Given the description of an element on the screen output the (x, y) to click on. 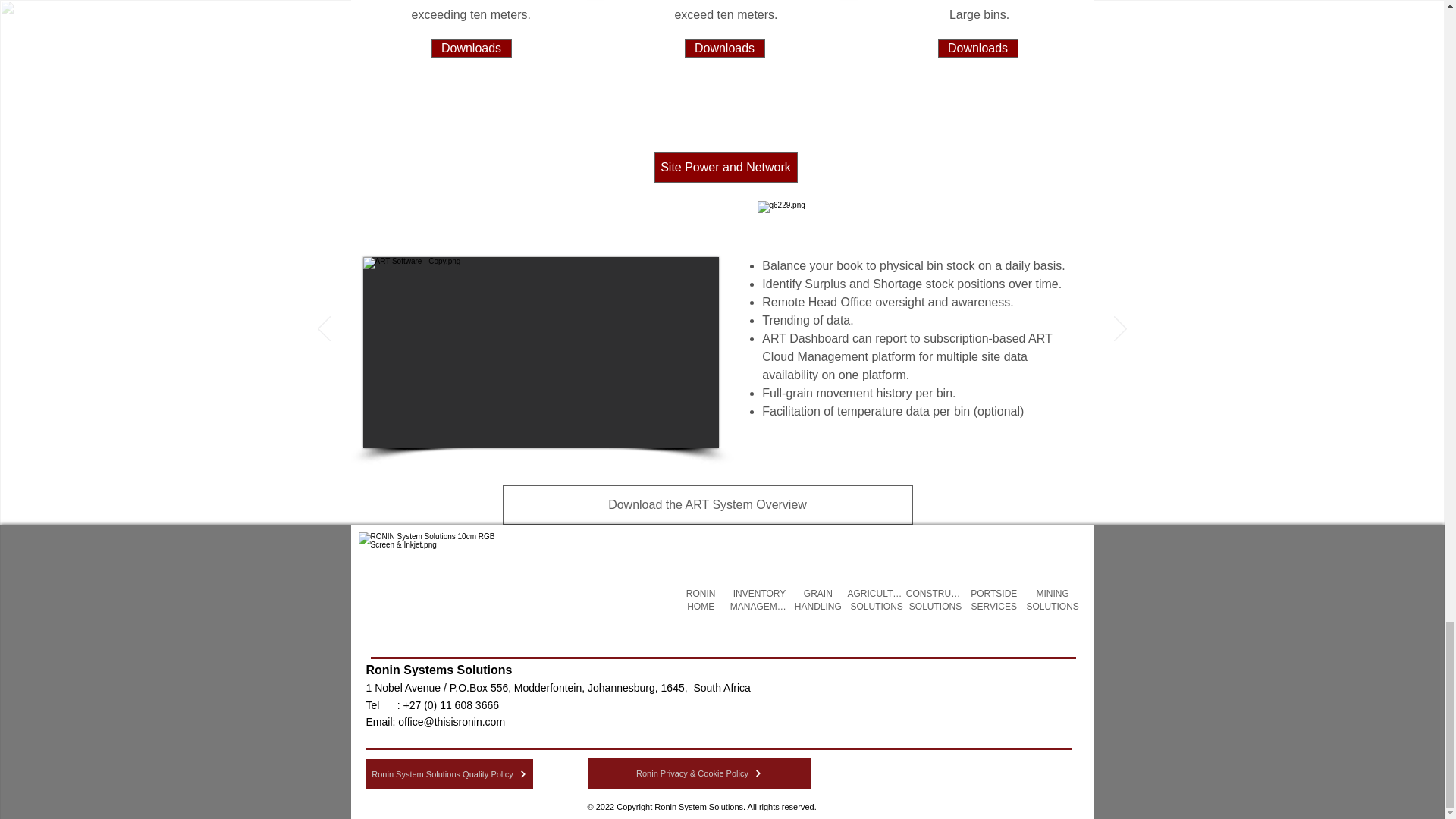
Downloads (470, 48)
Download the ART System Overview (707, 504)
Site Power and Network (724, 167)
Downloads (977, 48)
Downloads (724, 48)
